Given the description of an element on the screen output the (x, y) to click on. 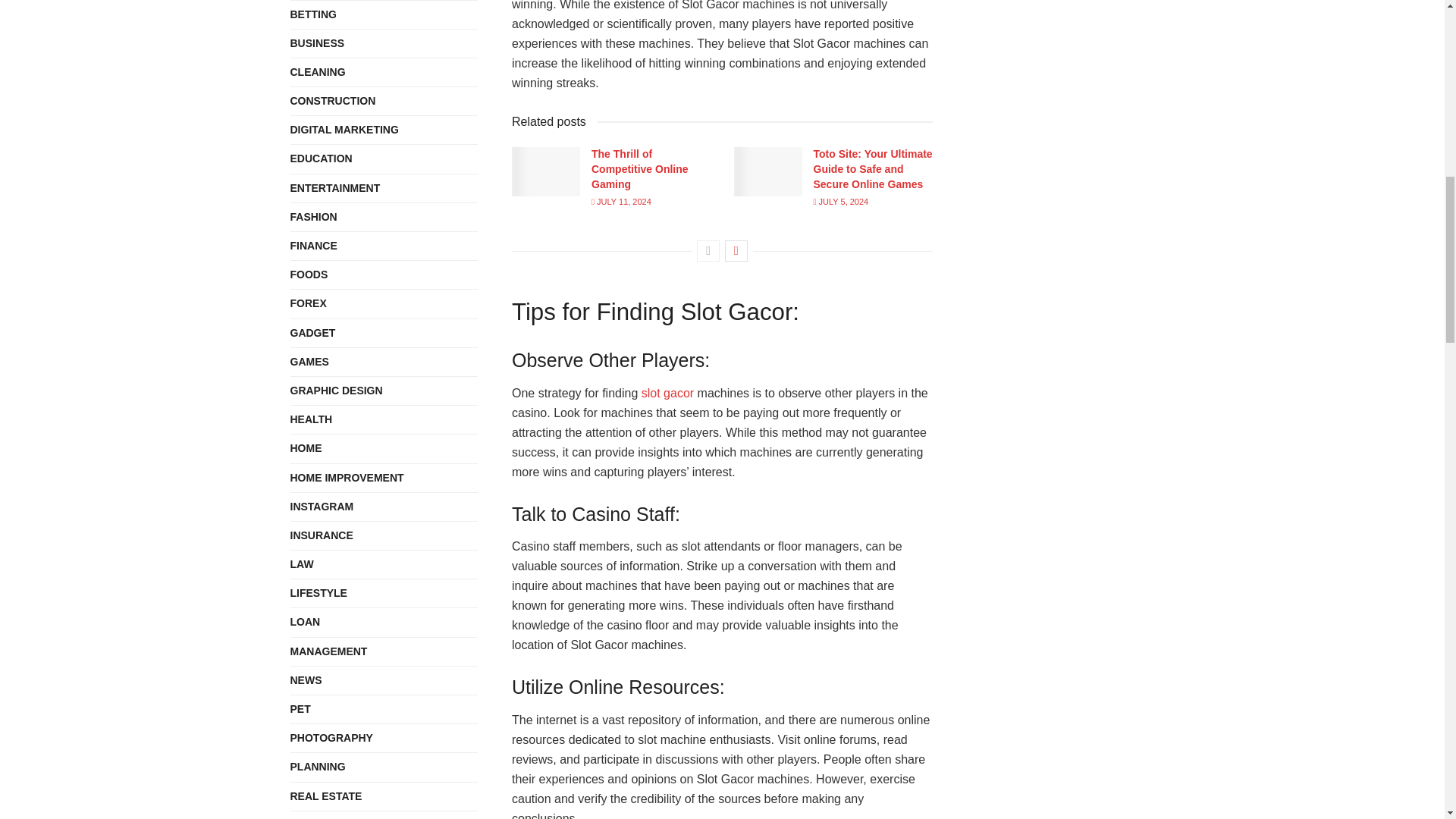
Previous (708, 250)
Next (736, 250)
